Given the description of an element on the screen output the (x, y) to click on. 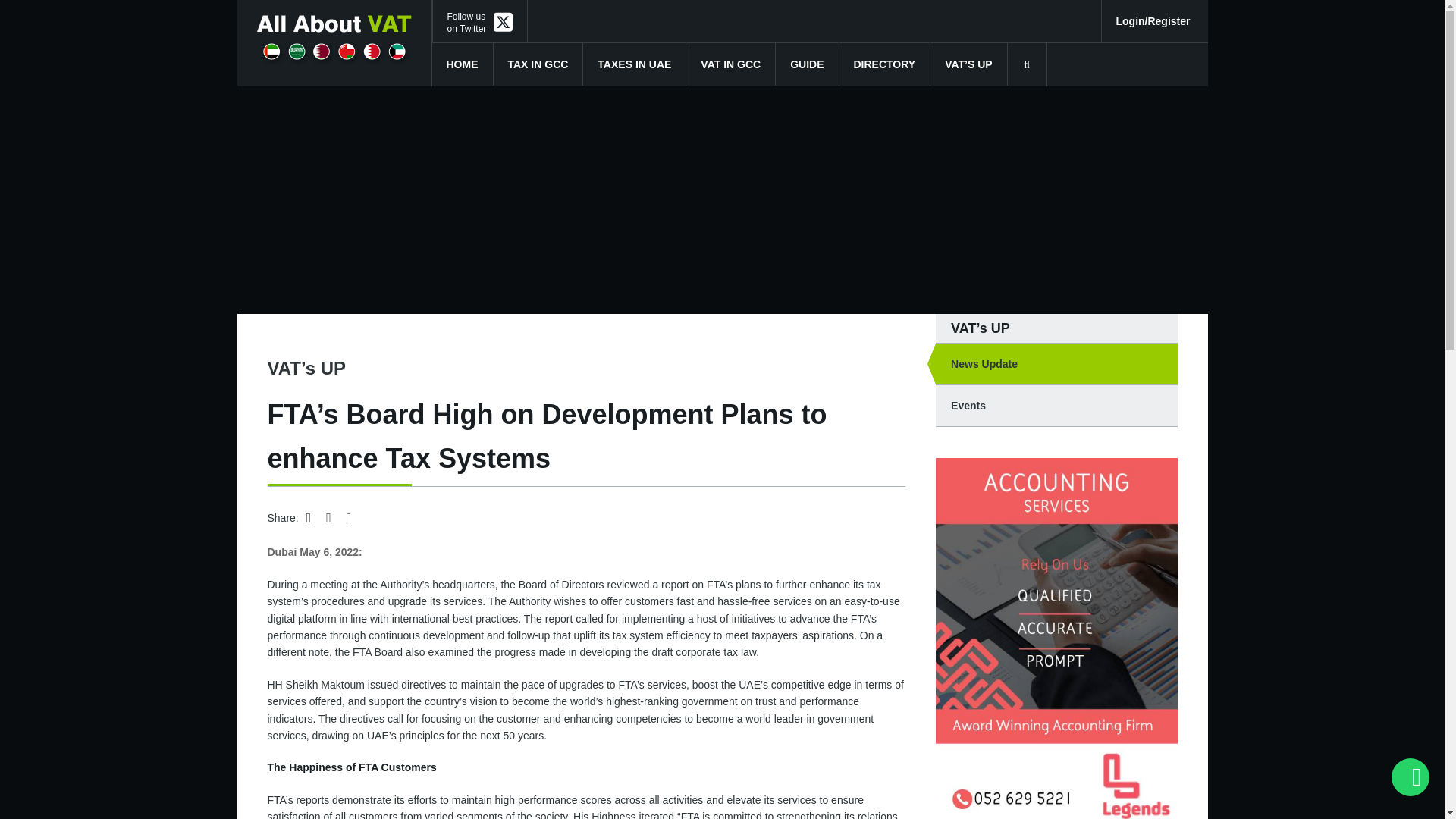
Follow us on Twitter (479, 23)
HOME (479, 23)
Advertisement (462, 64)
